Given the description of an element on the screen output the (x, y) to click on. 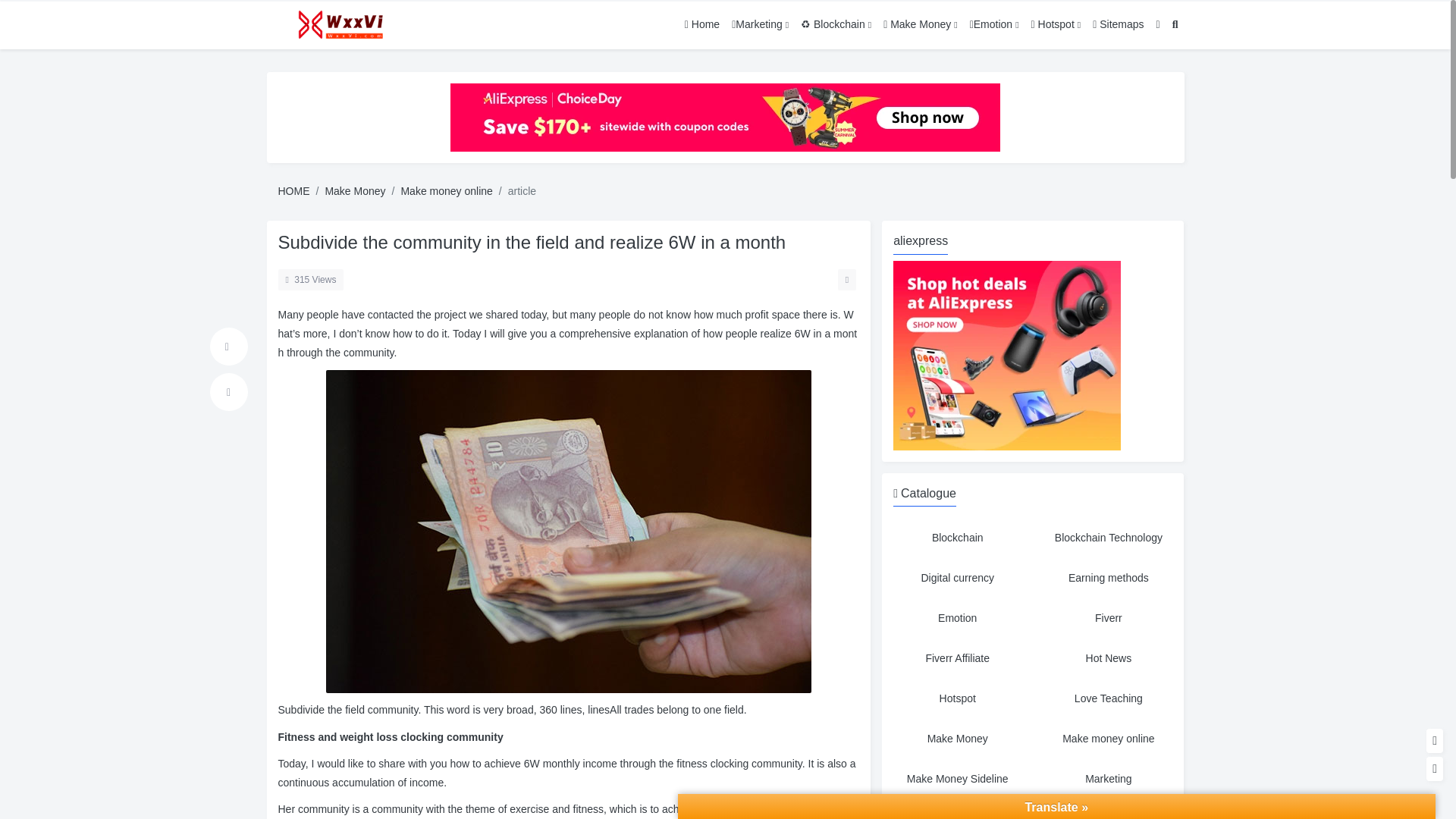
Fiverr Affiliate (957, 658)
Make Money Sideline (957, 778)
Metaverse (957, 812)
Emotion (957, 618)
Make money online (1108, 738)
NFT (1108, 812)
Fiverr (1108, 618)
Love Teaching (1108, 698)
Blockchain Technology (1108, 538)
Marketing (1108, 778)
